Given the description of an element on the screen output the (x, y) to click on. 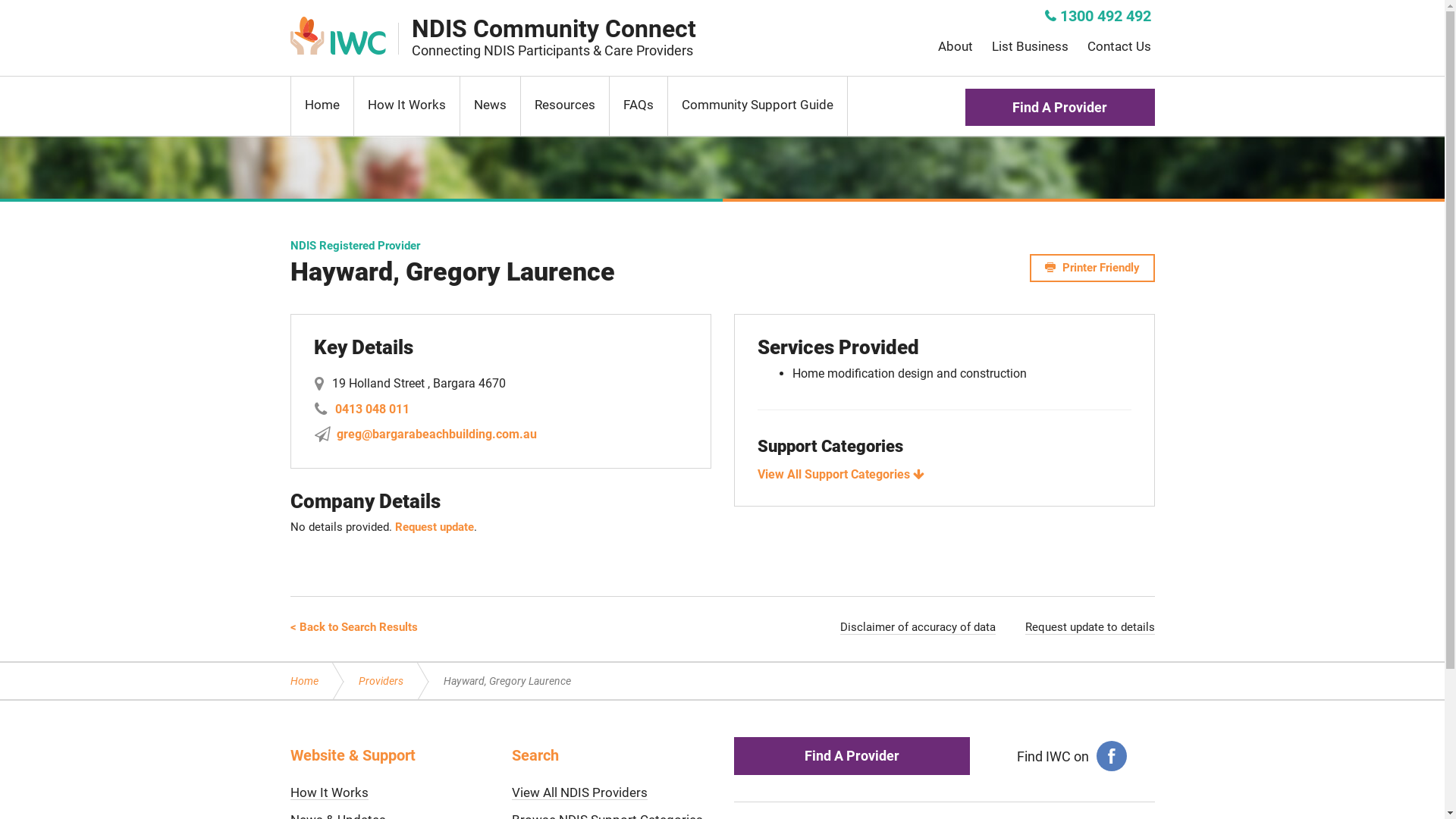
IWC NDIS Community Connect Element type: text (339, 35)
How It Works Element type: text (328, 793)
facebook Element type: text (1111, 755)
About Element type: text (954, 45)
Request update to details Element type: text (1089, 627)
Home Element type: text (322, 105)
0413 048 011 Element type: text (372, 408)
greg@bargarabeachbuilding.com.au Element type: text (436, 433)
Printer Friendly Element type: text (1091, 268)
How It Works Element type: text (405, 105)
Home Element type: text (318, 681)
Contact Us Element type: text (1119, 45)
Find A Provider Element type: text (1059, 106)
News Element type: text (489, 105)
View All Support Categories Element type: text (841, 474)
View All NDIS Providers Element type: text (579, 793)
Find A Provider Element type: text (851, 755)
Providers Element type: text (391, 681)
< Back to Search Results Element type: text (353, 626)
FAQs Element type: text (638, 105)
Request update Element type: text (433, 526)
List Business Element type: text (1029, 45)
1300 492 492 Element type: text (1097, 16)
Disclaimer of accuracy of data Element type: text (917, 627)
Resources Element type: text (564, 105)
Community Support Guide Element type: text (756, 105)
